Given the description of an element on the screen output the (x, y) to click on. 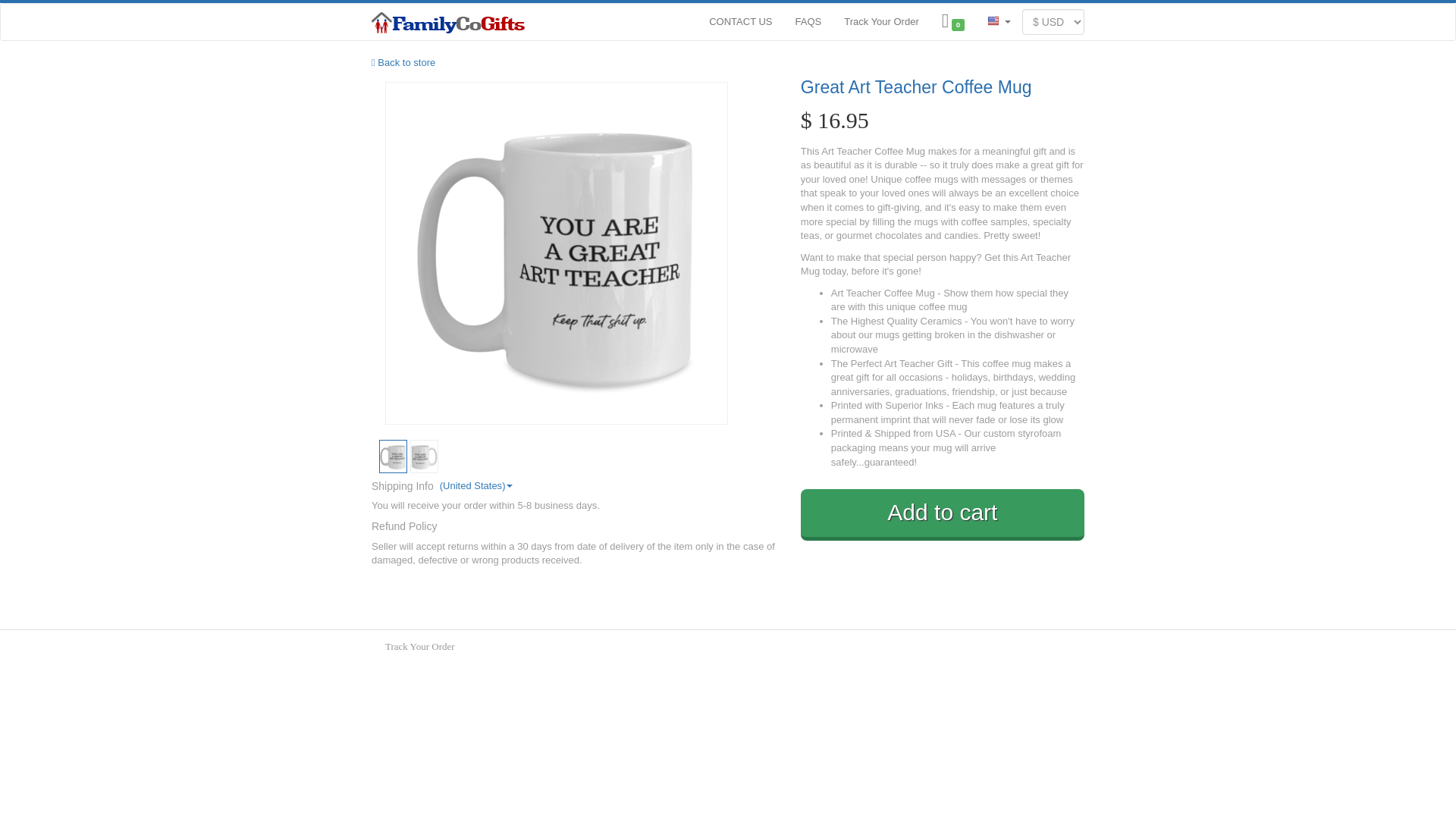
Track Your Order (881, 20)
Back to store (403, 61)
Great Art Teacher Coffee Mug (942, 87)
0 (952, 21)
Track Your Order (419, 646)
Add to cart (942, 514)
FAQS (808, 20)
CONTACT US (740, 20)
